Given the description of an element on the screen output the (x, y) to click on. 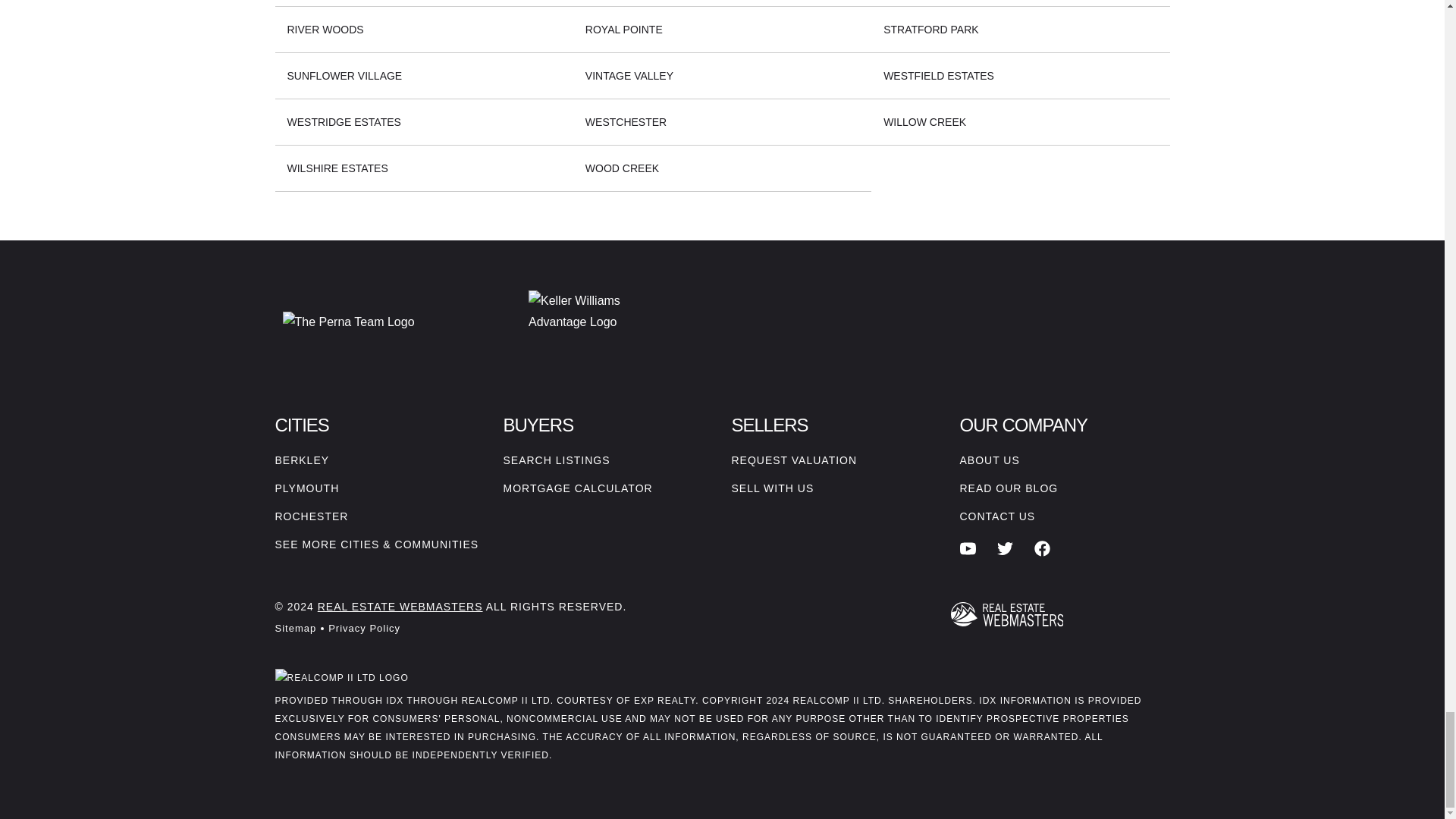
FACEBOOK (1041, 548)
YOUTUBE (967, 548)
TWITTER (1005, 548)
